Given the description of an element on the screen output the (x, y) to click on. 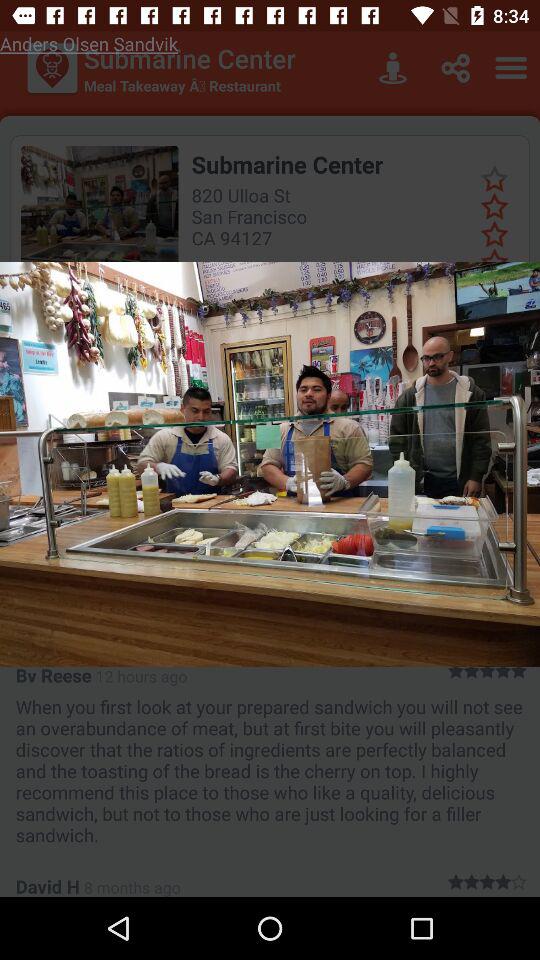
flip to the anders olsen sandvik item (89, 43)
